Given the description of an element on the screen output the (x, y) to click on. 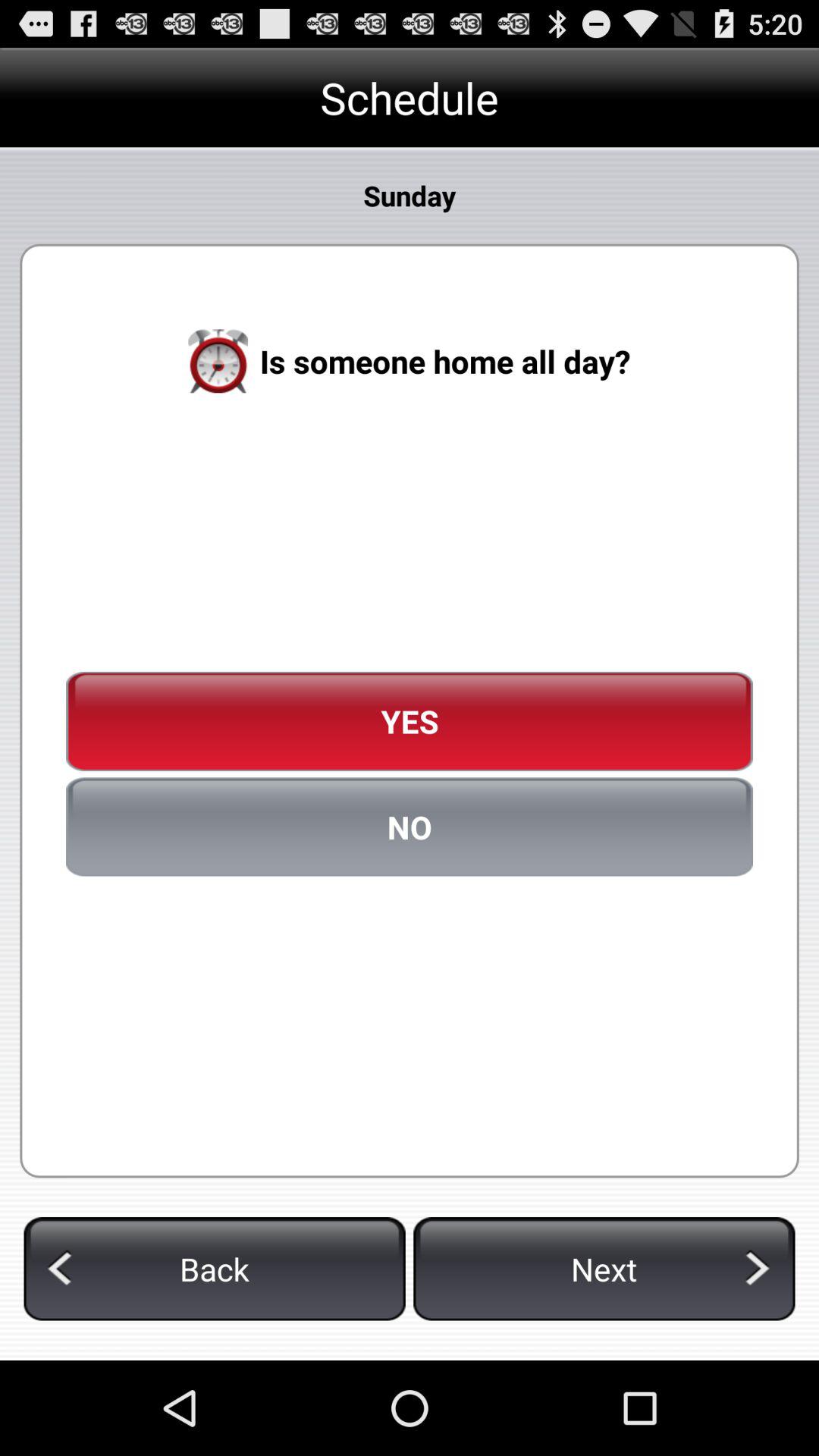
tap the item above back button (409, 827)
